Given the description of an element on the screen output the (x, y) to click on. 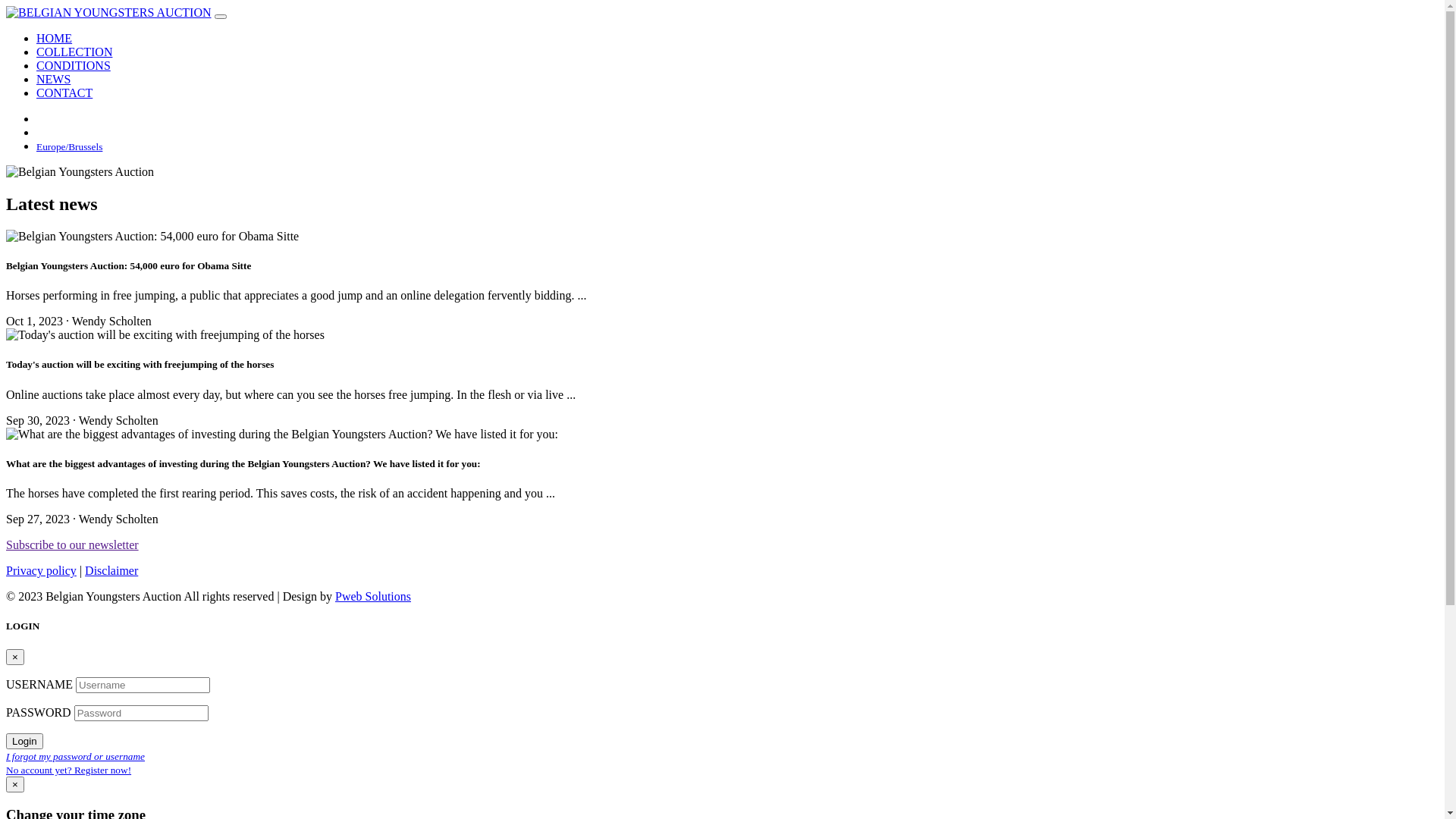
Disclaimer Element type: text (111, 570)
COLLECTION Element type: text (74, 51)
NEWS Element type: text (53, 78)
Privacy policy Element type: text (41, 570)
No account yet? Register now! Element type: text (68, 768)
I forgot my password or username Element type: text (75, 755)
Login Element type: text (24, 741)
Europe/Brussels Element type: text (69, 145)
CONDITIONS Element type: text (73, 65)
HOME Element type: text (54, 37)
CONTACT Element type: text (64, 92)
Subscribe to our newsletter Element type: text (72, 544)
Pweb Solutions Element type: text (373, 595)
